Given the description of an element on the screen output the (x, y) to click on. 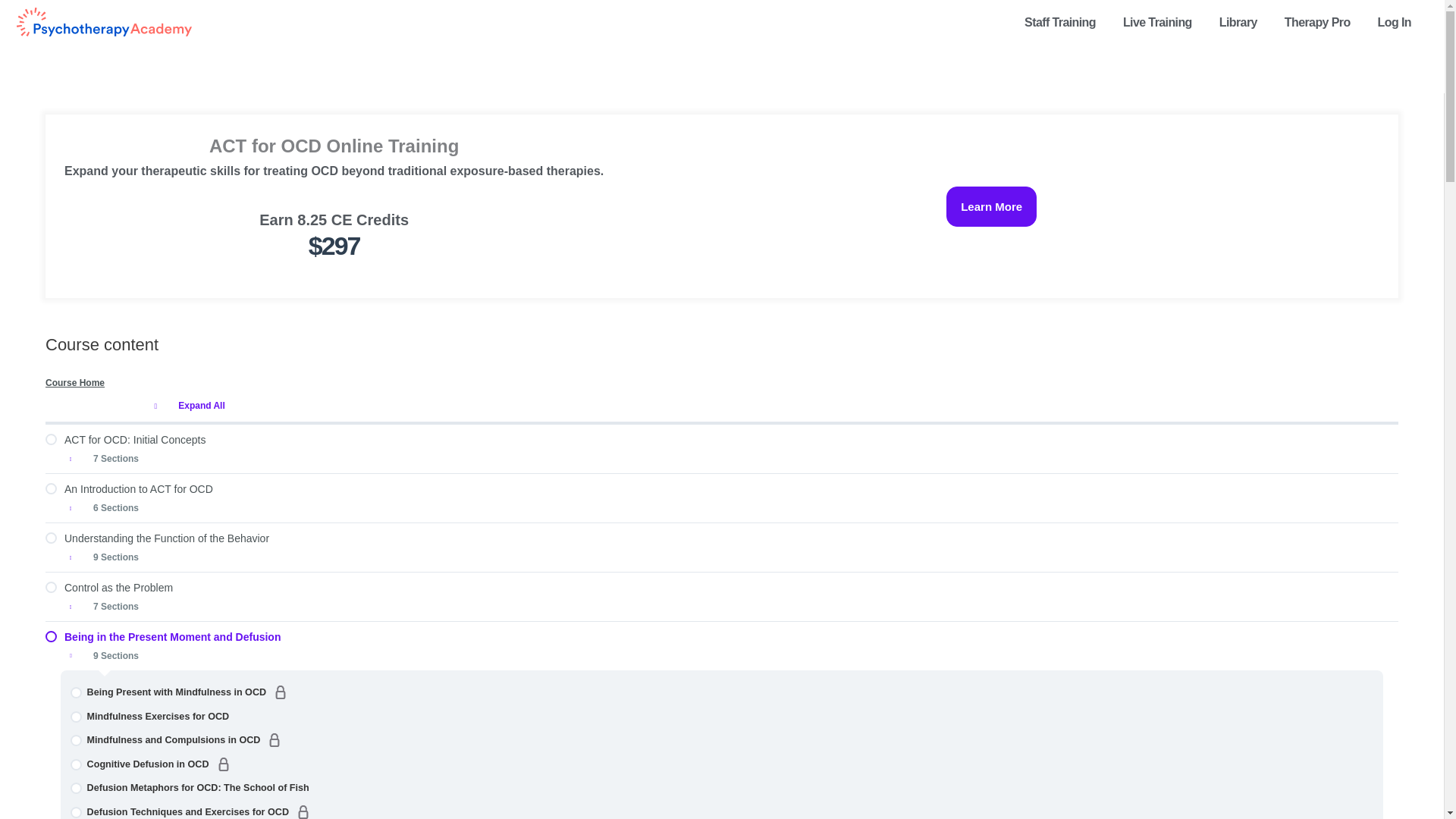
Learn More (991, 206)
Course Home (721, 382)
Log in (1398, 22)
Courses (1242, 22)
Staff Training (1063, 22)
Log In (1398, 22)
Understanding the Function of the Behavior (721, 538)
Library (1242, 22)
Live Training (1161, 22)
Therapy Pro (1321, 22)
Therapy Pro (1321, 22)
